Given the description of an element on the screen output the (x, y) to click on. 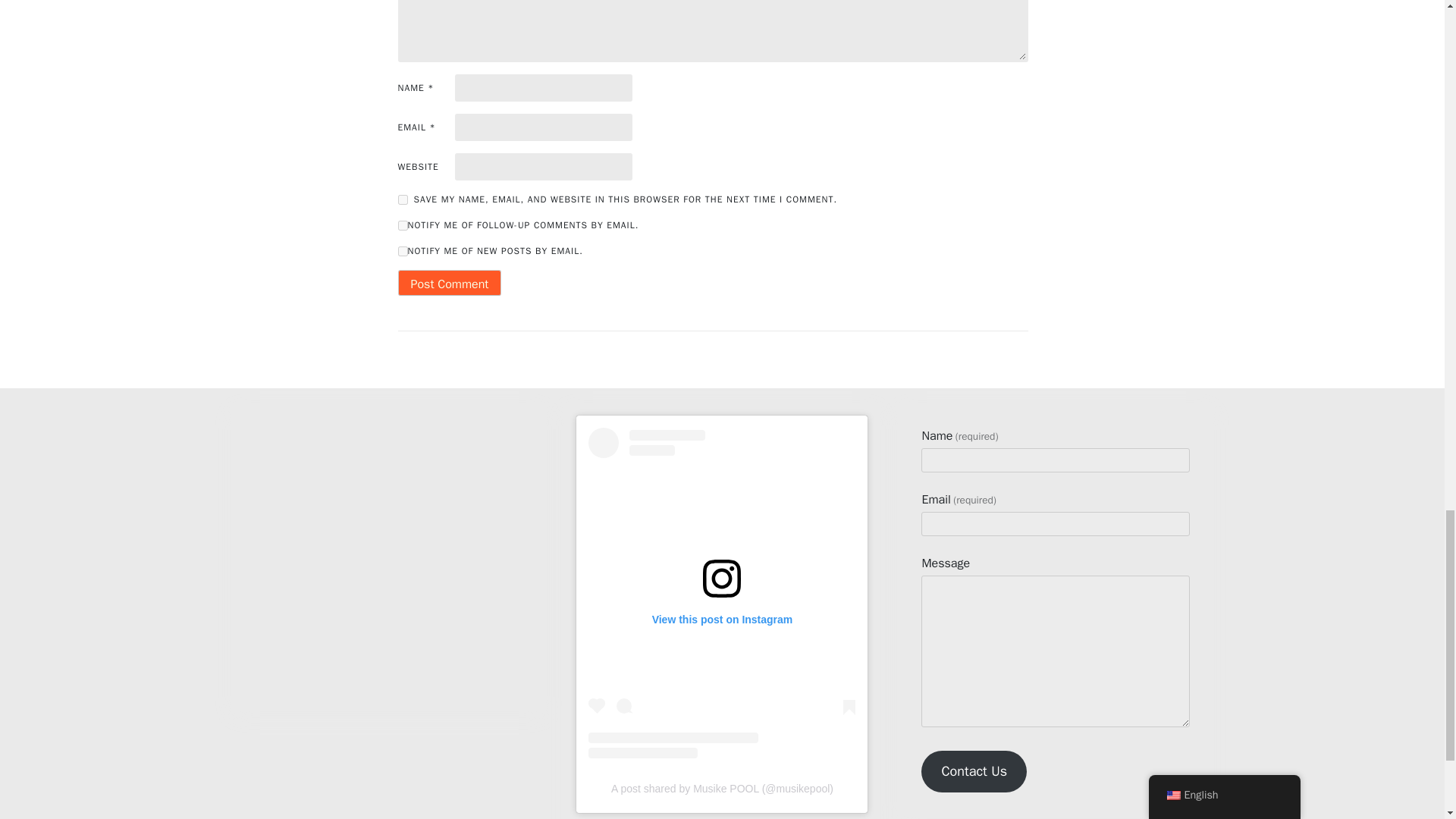
Spotify Embed: MusikePOOL (389, 547)
subscribe (402, 225)
subscribe (402, 251)
Post Comment (448, 282)
Post Comment (448, 282)
yes (402, 199)
